Given the description of an element on the screen output the (x, y) to click on. 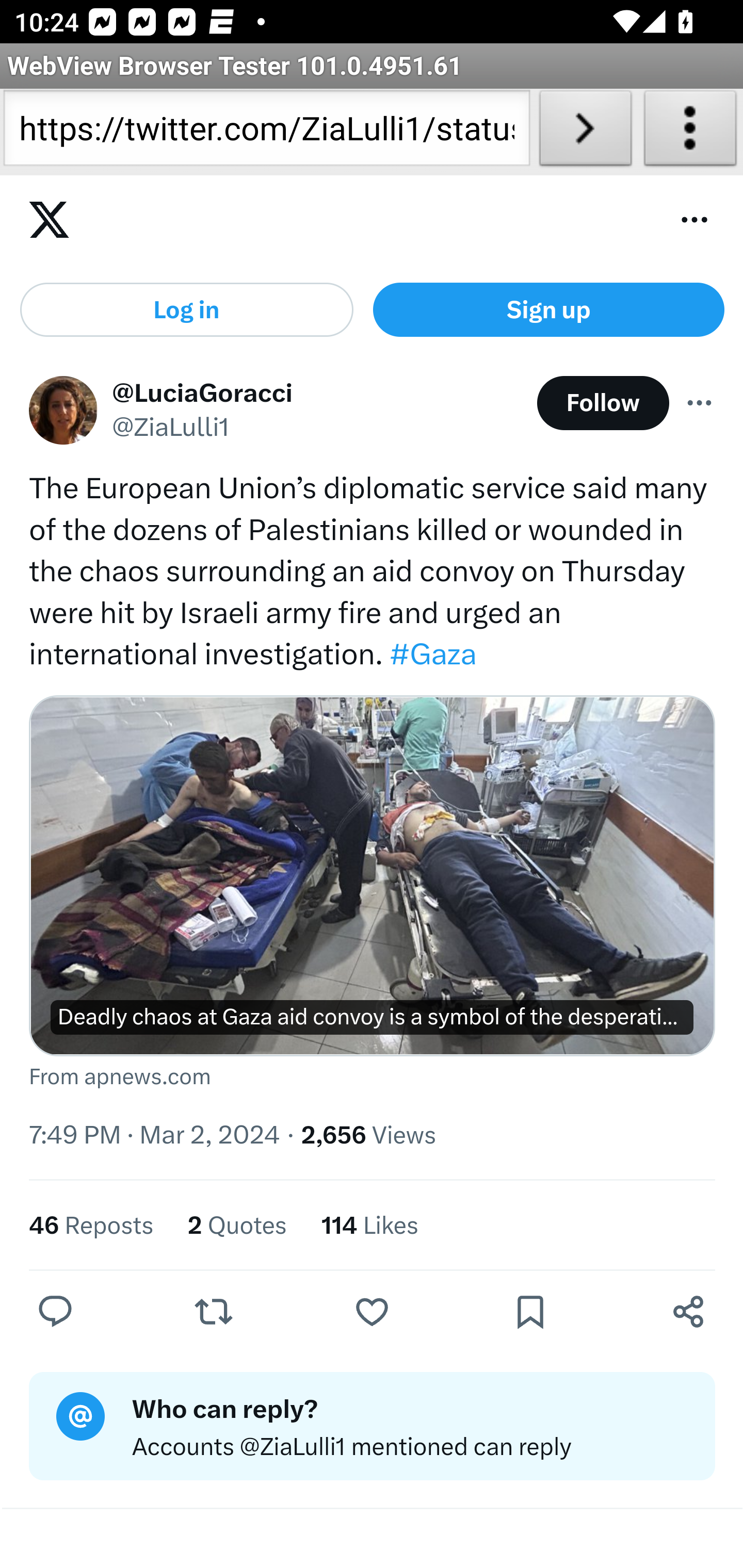
Load URL (585, 132)
About WebView (690, 132)
@LuciaGoracci (203, 391)
Follow @ZiaLulli1 (602, 402)
More (699, 402)
@ZiaLulli1 (171, 428)
#Gaza (432, 654)
From apnews.com From  apnews.com (372, 1076)
7:49 PM · Mar 2, 2024 (154, 1135)
46 Reposts 46   Reposts (91, 1224)
2 Quotes 2   Quotes (235, 1224)
114 Likes 114   Likes (369, 1224)
Reply (55, 1310)
Repost (212, 1310)
Like (371, 1310)
0 Bookmarks. Bookmark (534, 1310)
Share post (688, 1310)
